Given the description of an element on the screen output the (x, y) to click on. 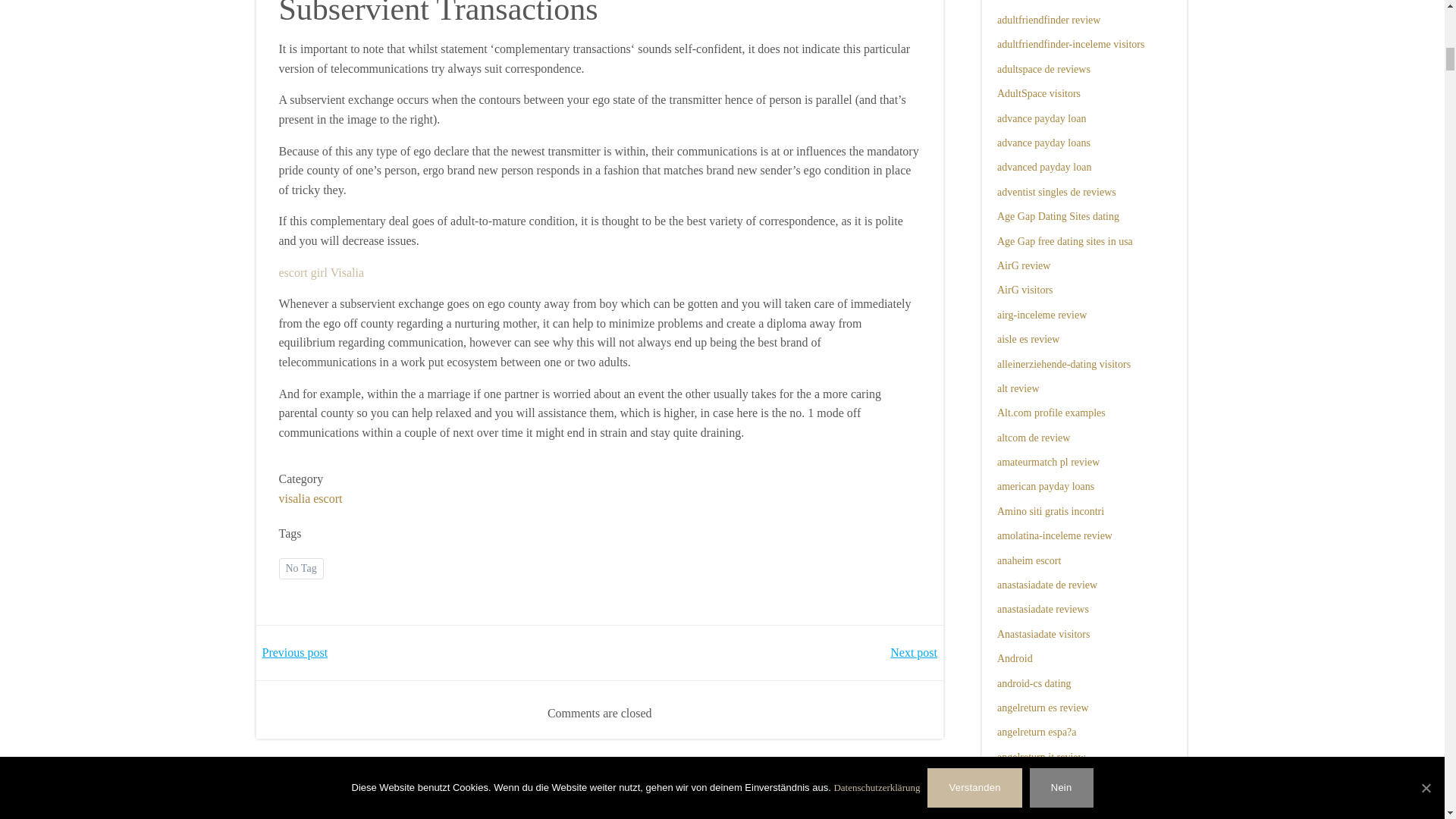
Next post (913, 652)
escort girl Visalia (322, 272)
visalia escort (310, 498)
Previous post (295, 652)
